Given the description of an element on the screen output the (x, y) to click on. 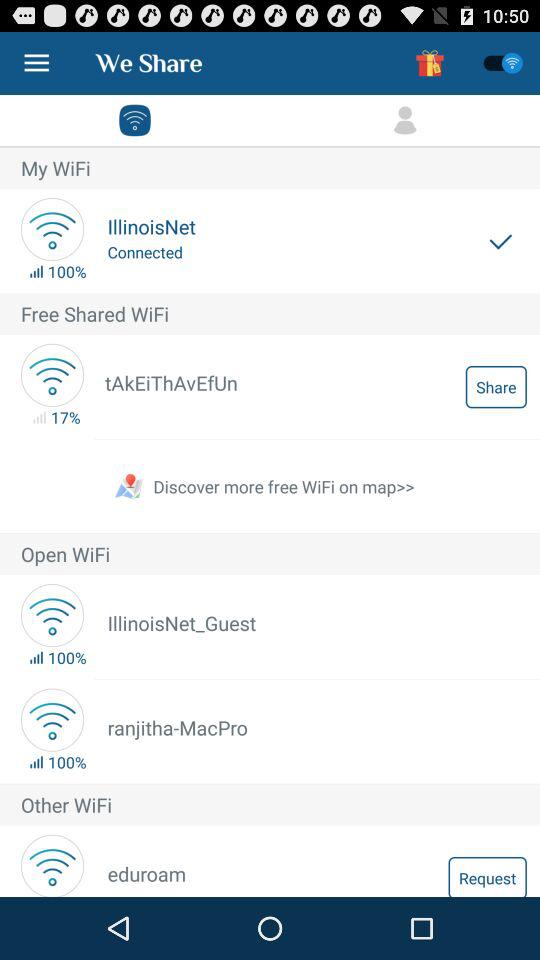
open the item next to the illinoisnet icon (500, 240)
